Given the description of an element on the screen output the (x, y) to click on. 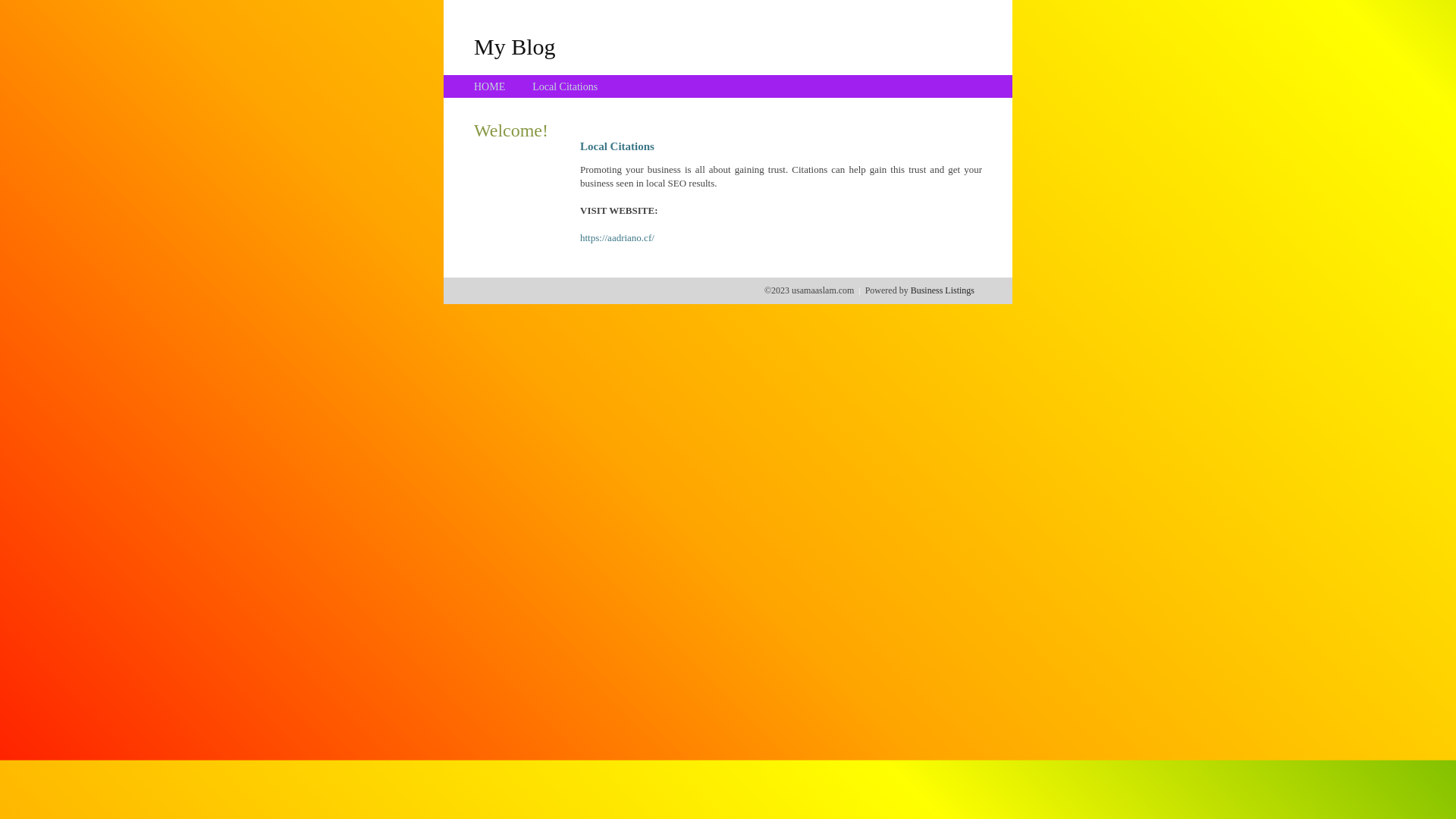
https://aadriano.cf/ Element type: text (617, 237)
My Blog Element type: text (514, 46)
Local Citations Element type: text (564, 86)
Business Listings Element type: text (942, 290)
HOME Element type: text (489, 86)
